Given the description of an element on the screen output the (x, y) to click on. 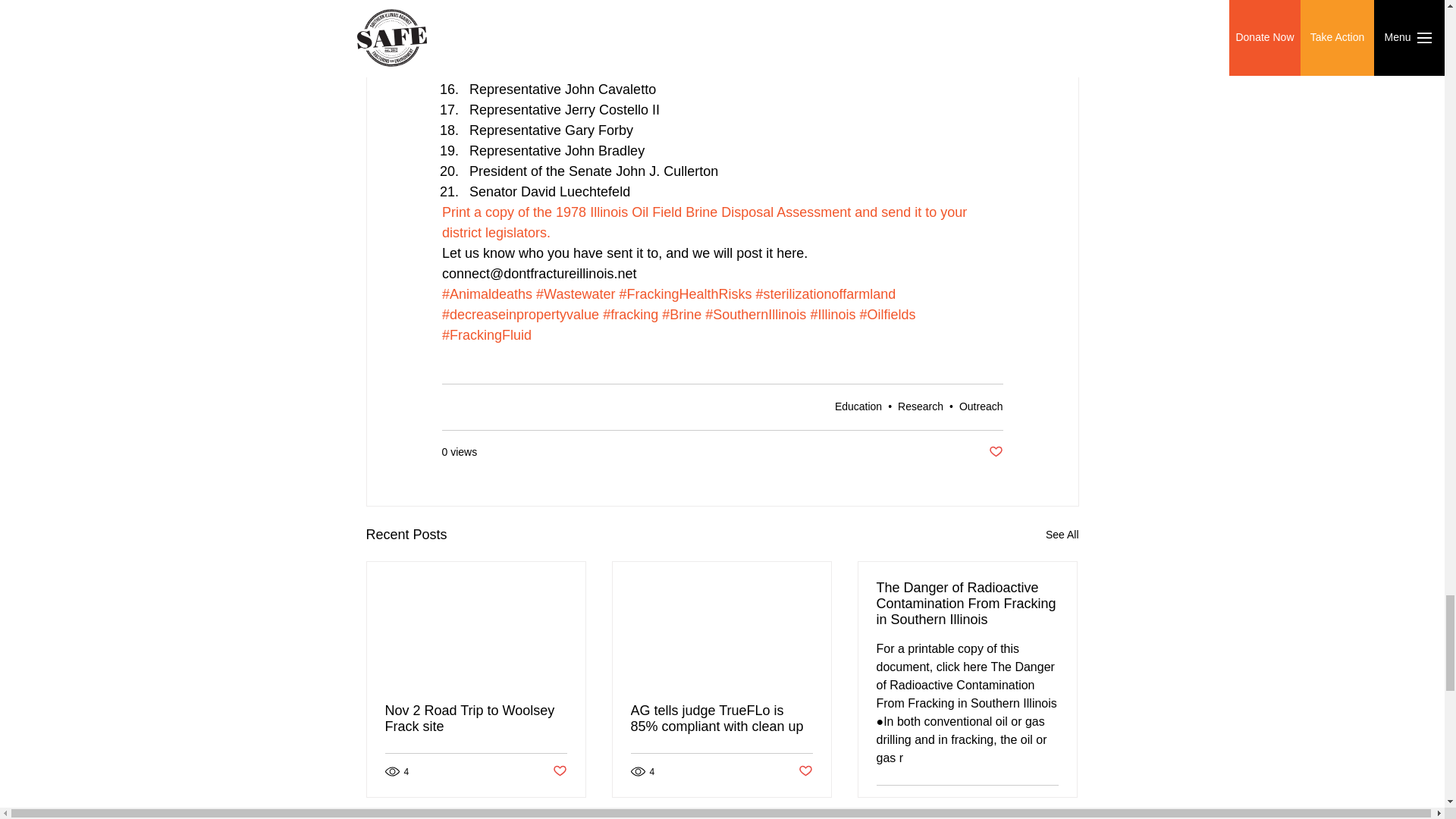
Post not marked as liked (1050, 803)
Education (858, 406)
Post not marked as liked (804, 771)
See All (1061, 535)
Outreach (981, 406)
Nov 2 Road Trip to Woolsey Frack site (476, 718)
Post not marked as liked (995, 452)
Research (920, 406)
Post not marked as liked (558, 771)
